Given the description of an element on the screen output the (x, y) to click on. 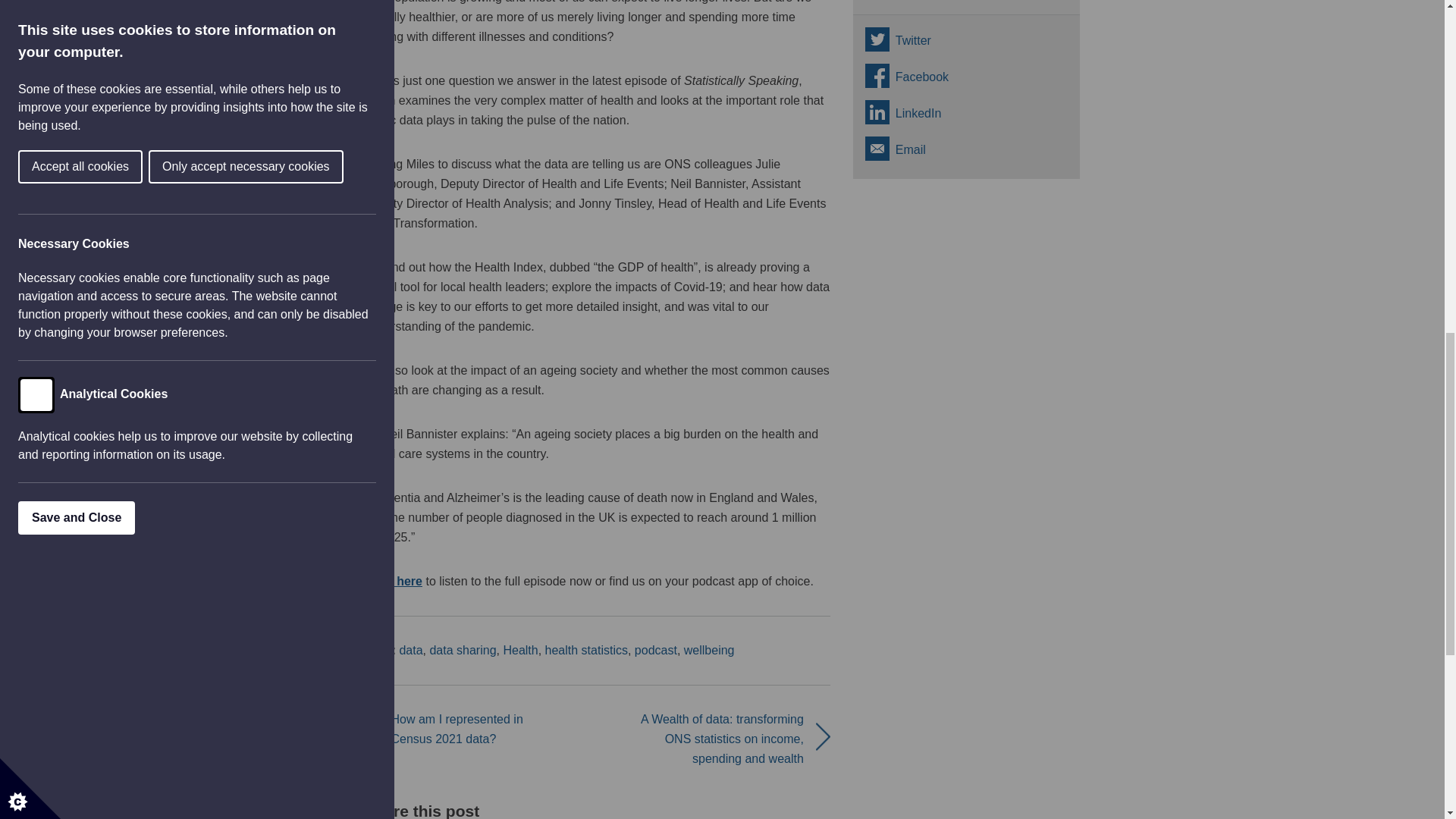
How am I represented in Census 2021 data? (456, 728)
podcast (655, 649)
wellbeing (709, 649)
health statistics (585, 649)
data (410, 649)
Health (519, 649)
data sharing (462, 649)
Click here (393, 581)
